Given the description of an element on the screen output the (x, y) to click on. 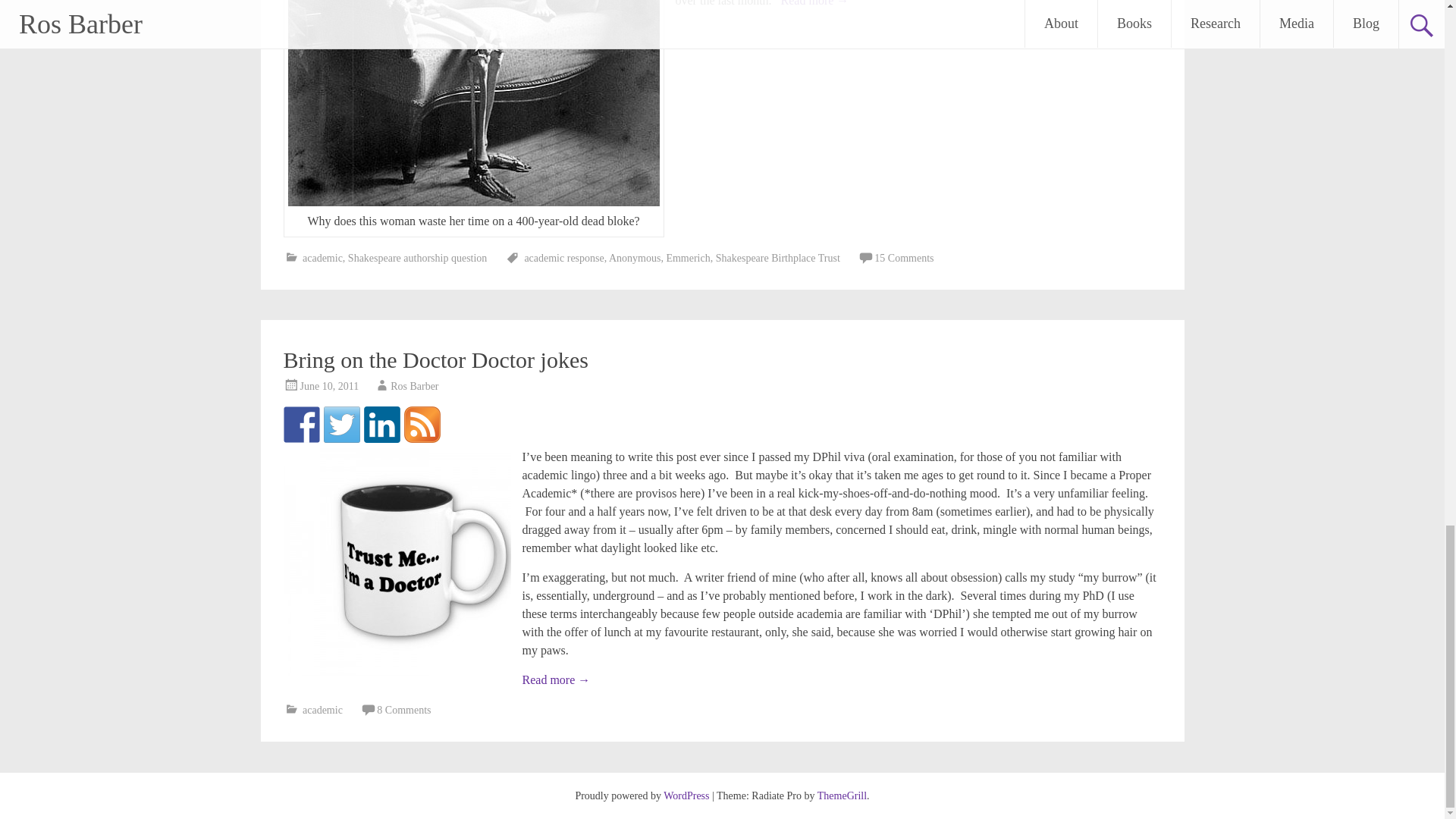
Anonymous (634, 257)
academic response (564, 257)
Shakespeare authorship question (417, 257)
academic (322, 257)
